Given the description of an element on the screen output the (x, y) to click on. 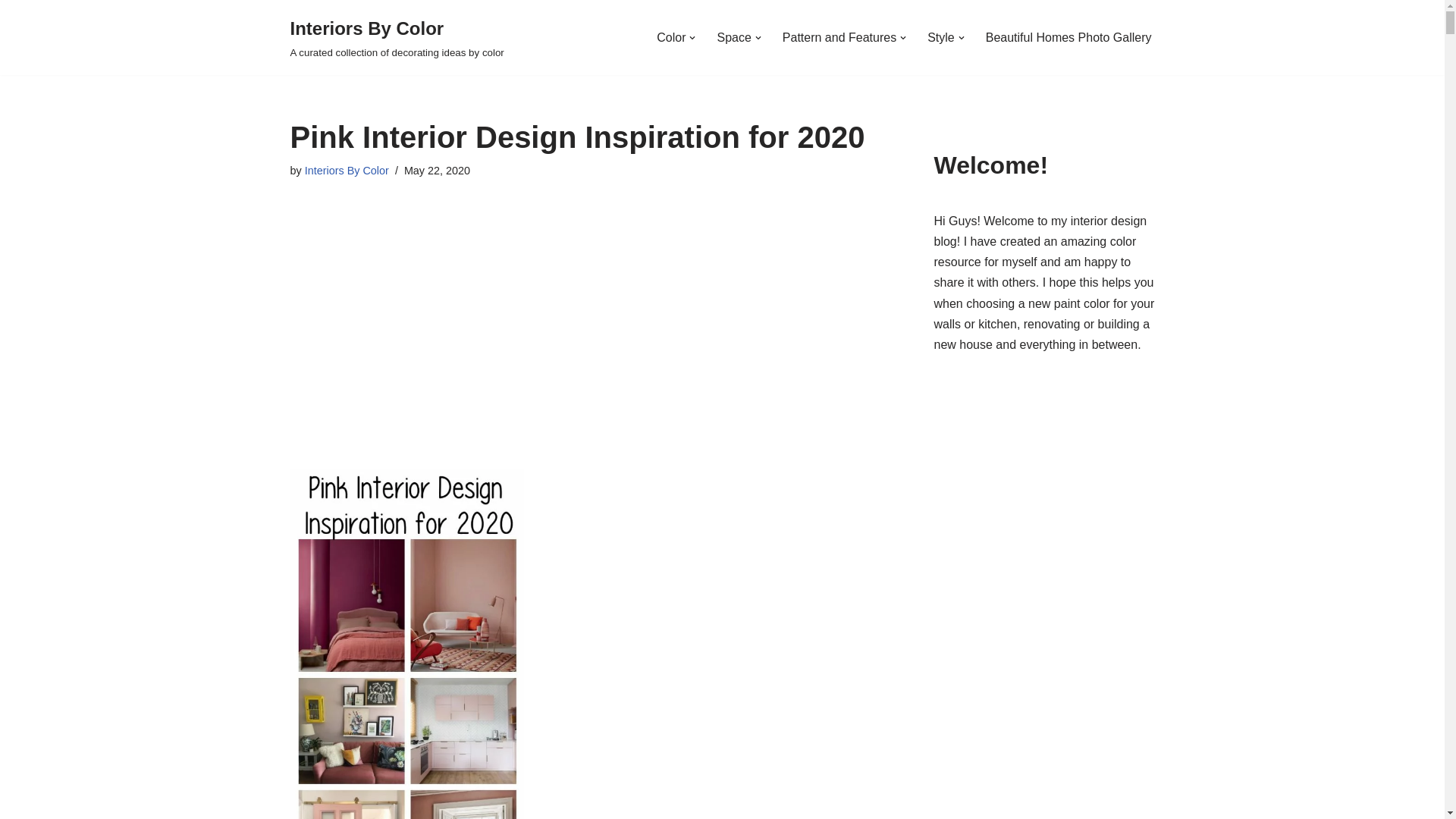
Posts by Interiors By Color (346, 170)
Skip to content (11, 31)
Advertisement (588, 309)
Color (670, 37)
Space (733, 37)
